Given the description of an element on the screen output the (x, y) to click on. 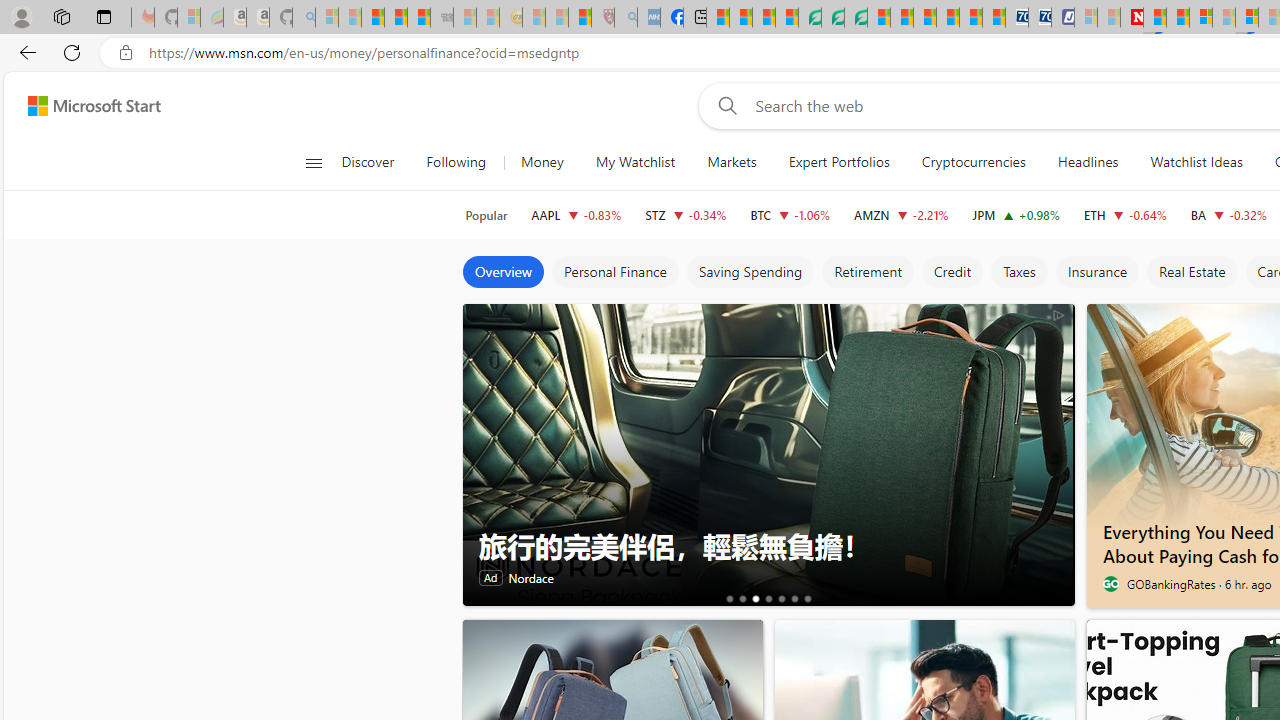
My Watchlist (635, 162)
Cryptocurrencies (973, 162)
Markets (731, 162)
Headlines (1087, 162)
Personal Finance (614, 272)
Retirement (866, 272)
